Given the description of an element on the screen output the (x, y) to click on. 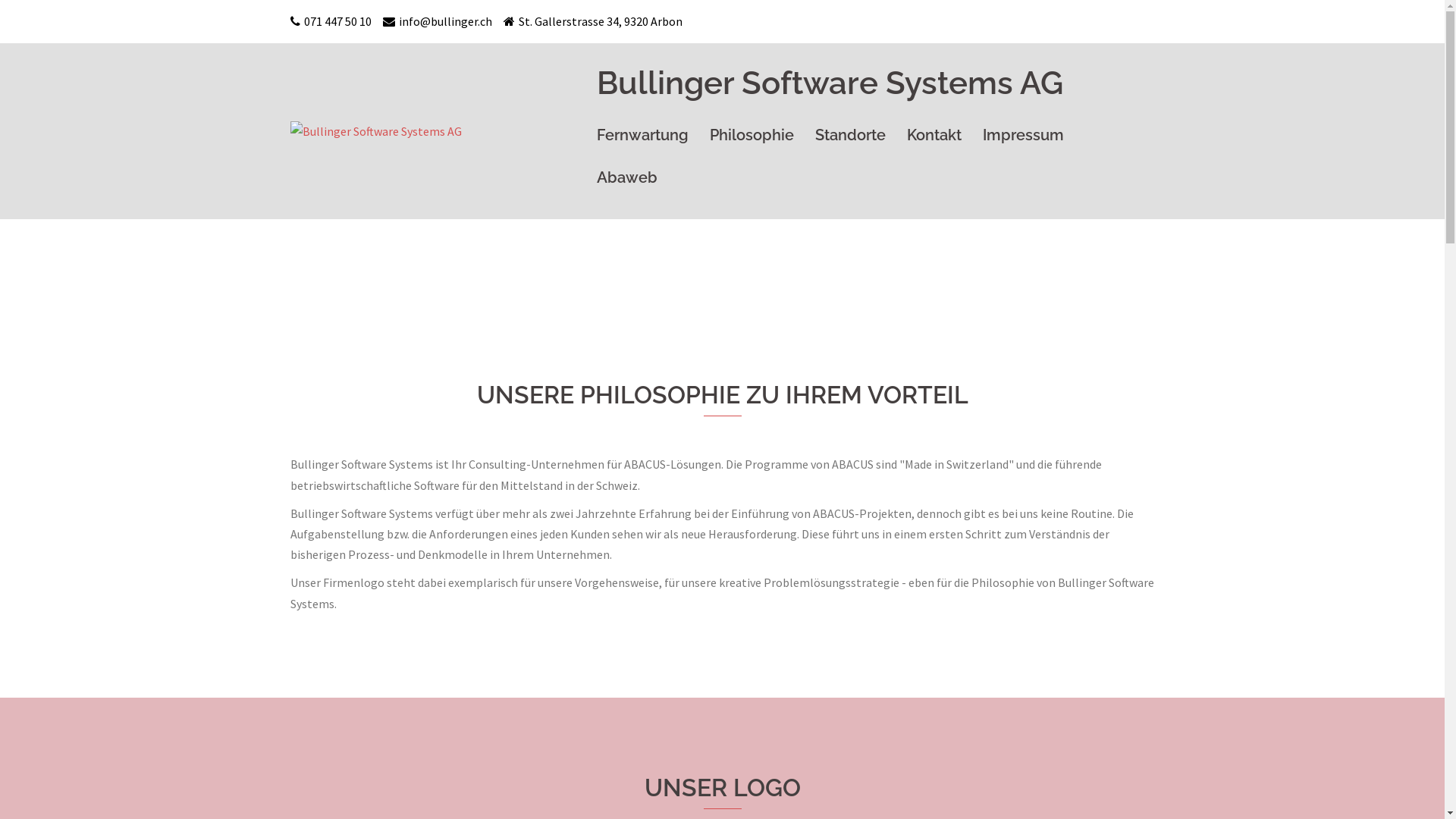
Fernwartung Element type: text (641, 140)
Impressum Element type: text (1022, 140)
Bullinger Software Systems AG Element type: hover (375, 130)
Philosophie Element type: text (751, 140)
Bullinger Software Systems AG Element type: text (829, 88)
Abaweb Element type: text (626, 182)
Kontakt Element type: text (933, 140)
Standorte Element type: text (849, 140)
